Given the description of an element on the screen output the (x, y) to click on. 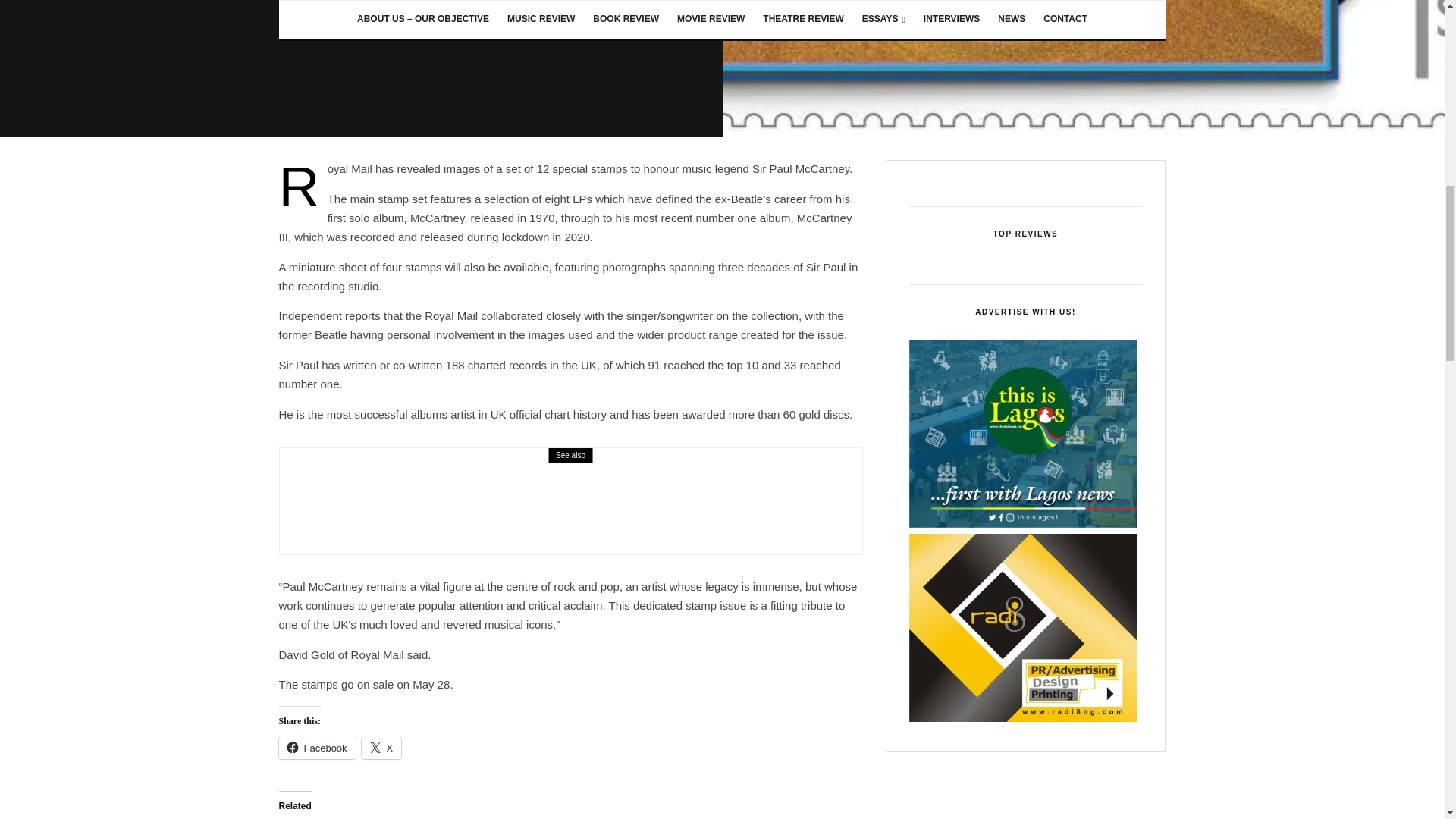
Click to share on Facebook (317, 747)
Click to share on X (381, 747)
